Given the description of an element on the screen output the (x, y) to click on. 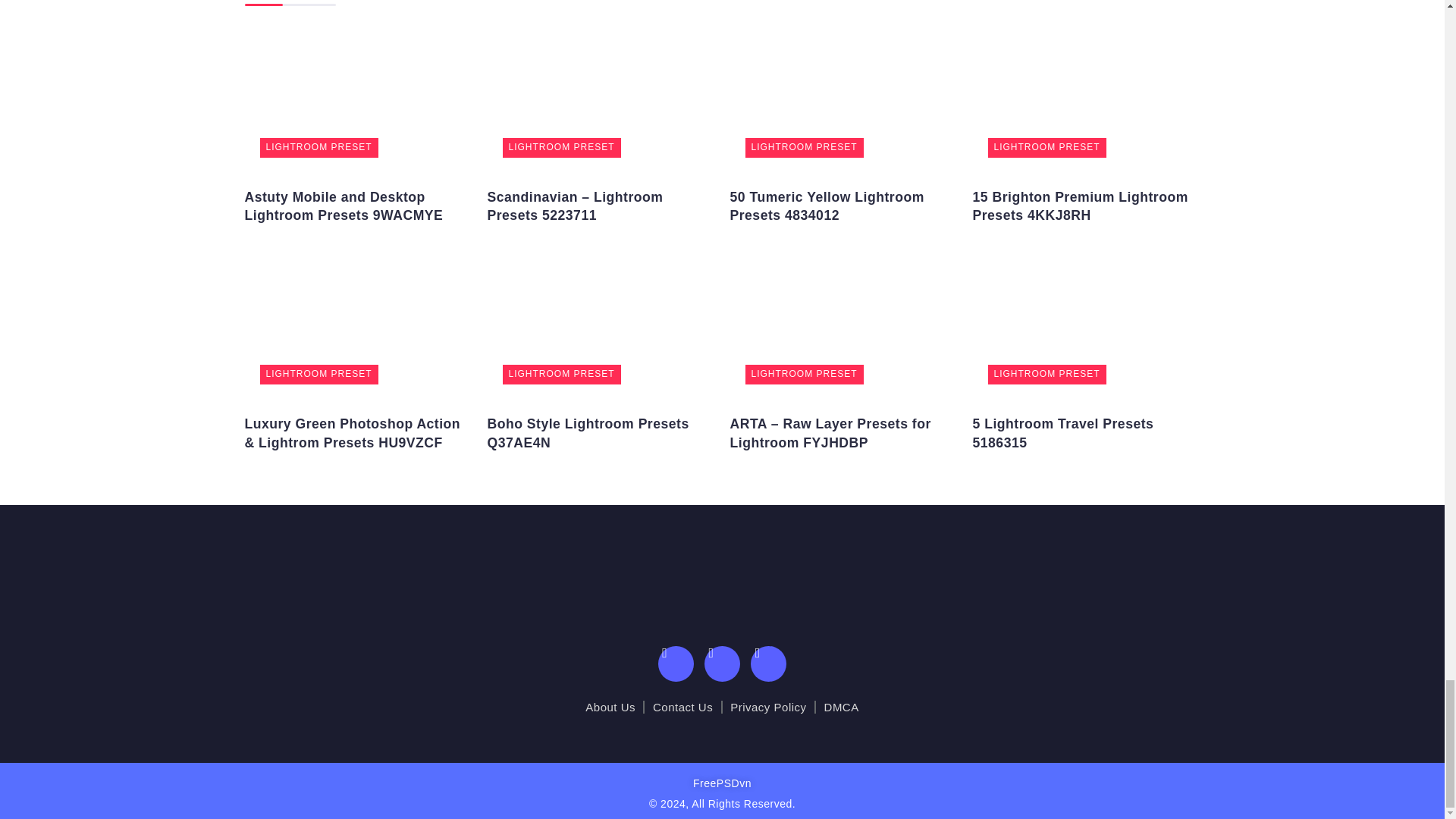
Astuty Mobile and Desktop Lightroom Presets 9WACMYE (357, 96)
Astuty Mobile and Desktop Lightroom Presets 9WACMYE (343, 206)
